Given the description of an element on the screen output the (x, y) to click on. 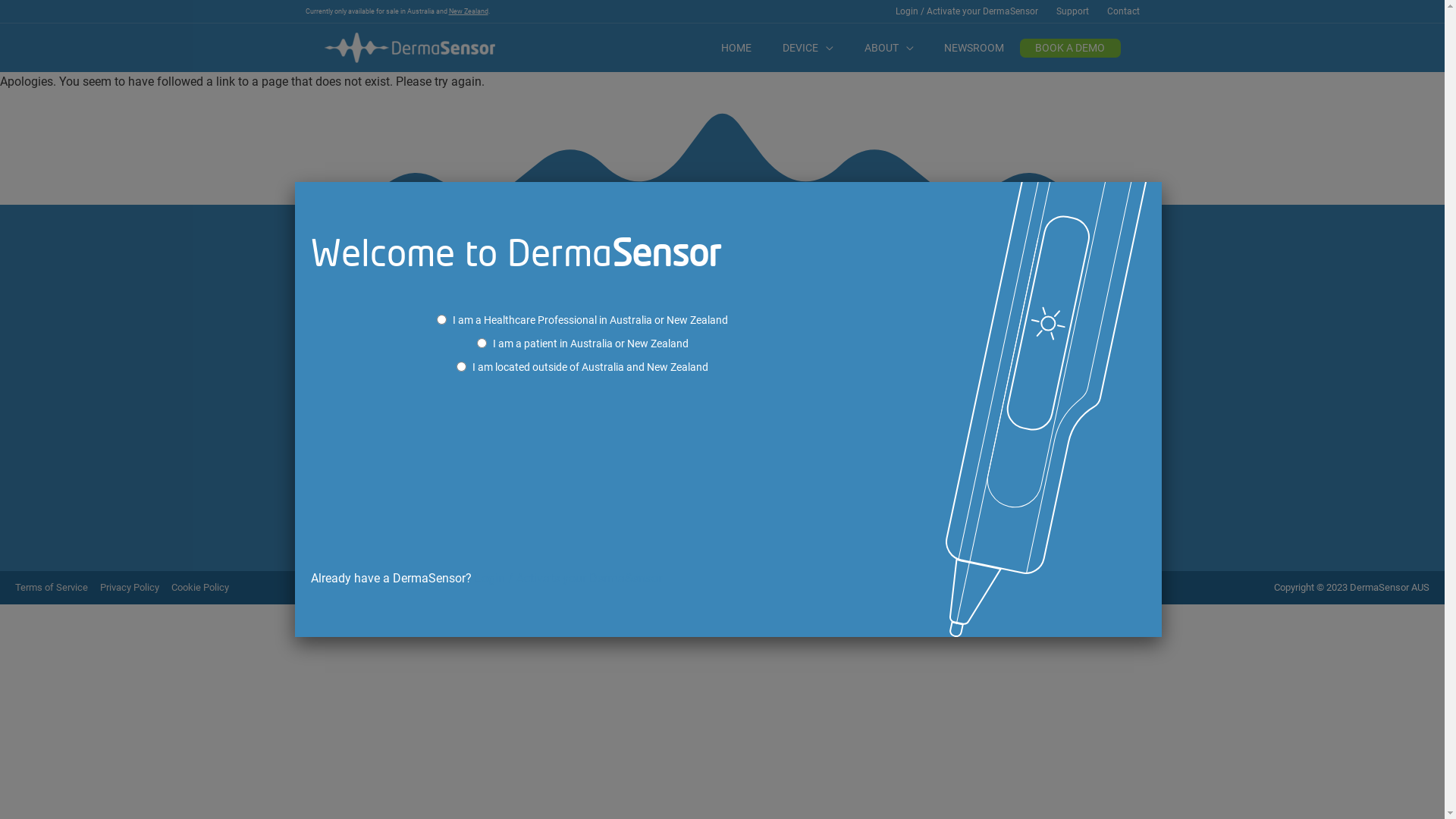
Newsroom Element type: text (679, 326)
HOME Element type: text (736, 47)
Contact Element type: text (1118, 11)
Finance Element type: text (1017, 326)
BOOK A DEMO Element type: text (1069, 47)
Contact Element type: text (844, 308)
History Element type: text (496, 326)
Terms of Service Element type: text (56, 587)
Support Portal Element type: text (861, 326)
Login / Activate your DermaSensor Element type: text (965, 11)
ABOUT Element type: text (888, 47)
NEWSROOM Element type: text (973, 47)
Submit Element type: text (19, 0)
DEVICE Element type: text (807, 47)
Team Element type: text (665, 308)
Privacy Policy Element type: text (134, 587)
New Zealand Element type: text (468, 11)
Support Element type: text (1071, 11)
Cookie Policy Element type: text (204, 587)
Device Element type: text (495, 308)
Login / Activate your DermaSensor Element type: text (568, 578)
Book a Demo Element type: text (1032, 308)
